Given the description of an element on the screen output the (x, y) to click on. 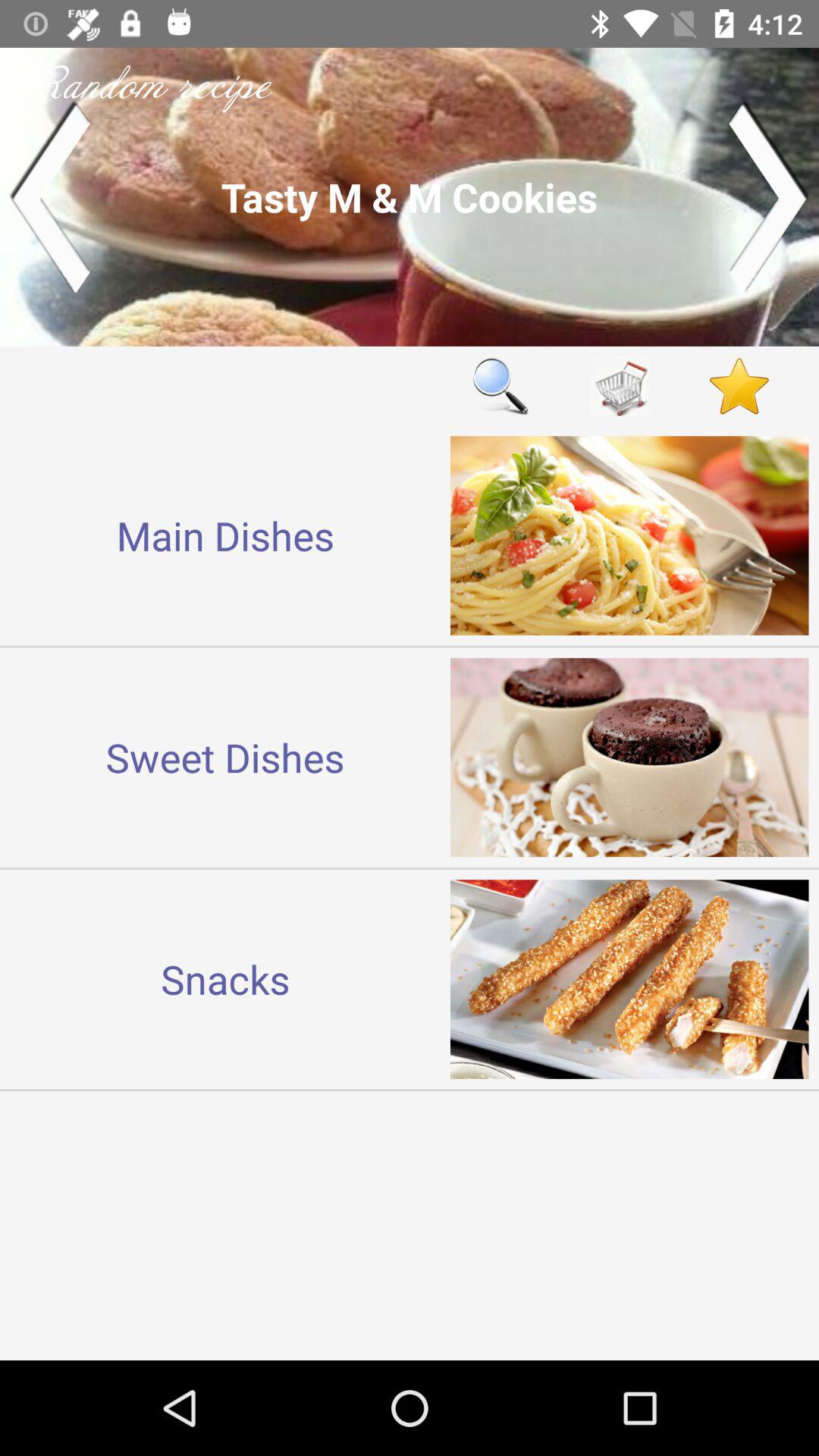
launch item above the snacks icon (225, 756)
